Given the description of an element on the screen output the (x, y) to click on. 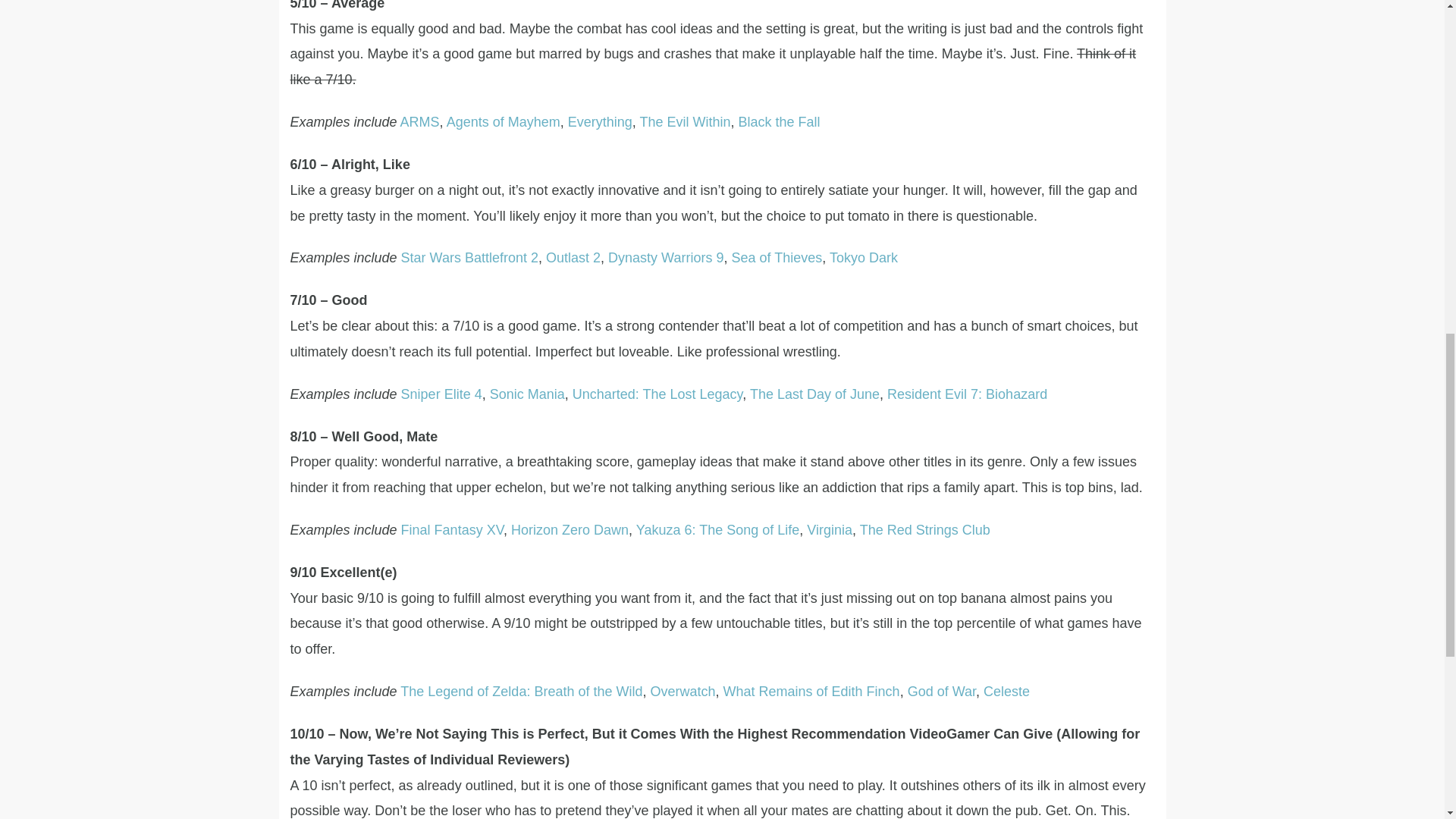
Star Wars Battlefront 2 (469, 257)
Sea of Thieves (776, 257)
ARMS (419, 121)
Dynasty Warriors 9 (665, 257)
Tokyo Dark (863, 257)
Outlast 2 (572, 257)
Everything (599, 121)
Sniper Elite 4 (441, 394)
The Evil Within (684, 121)
Black the Fall (779, 121)
